Given the description of an element on the screen output the (x, y) to click on. 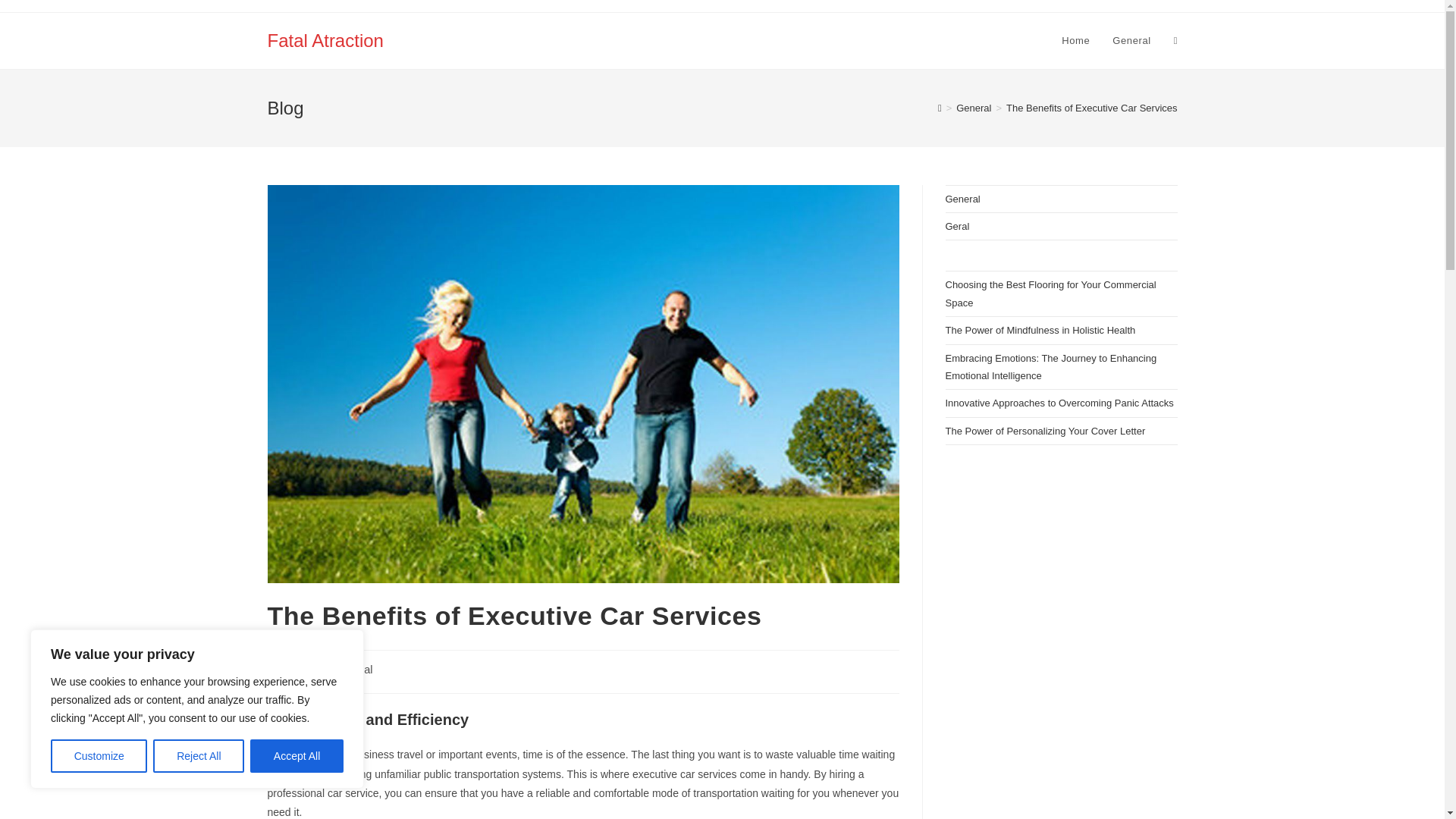
Reject All (198, 756)
General (1130, 40)
Customize (98, 756)
General (352, 669)
Home (1074, 40)
Accept All (296, 756)
The Benefits of Executive Car Services (1091, 107)
General (973, 107)
Fatal Atraction (324, 40)
